Given the description of an element on the screen output the (x, y) to click on. 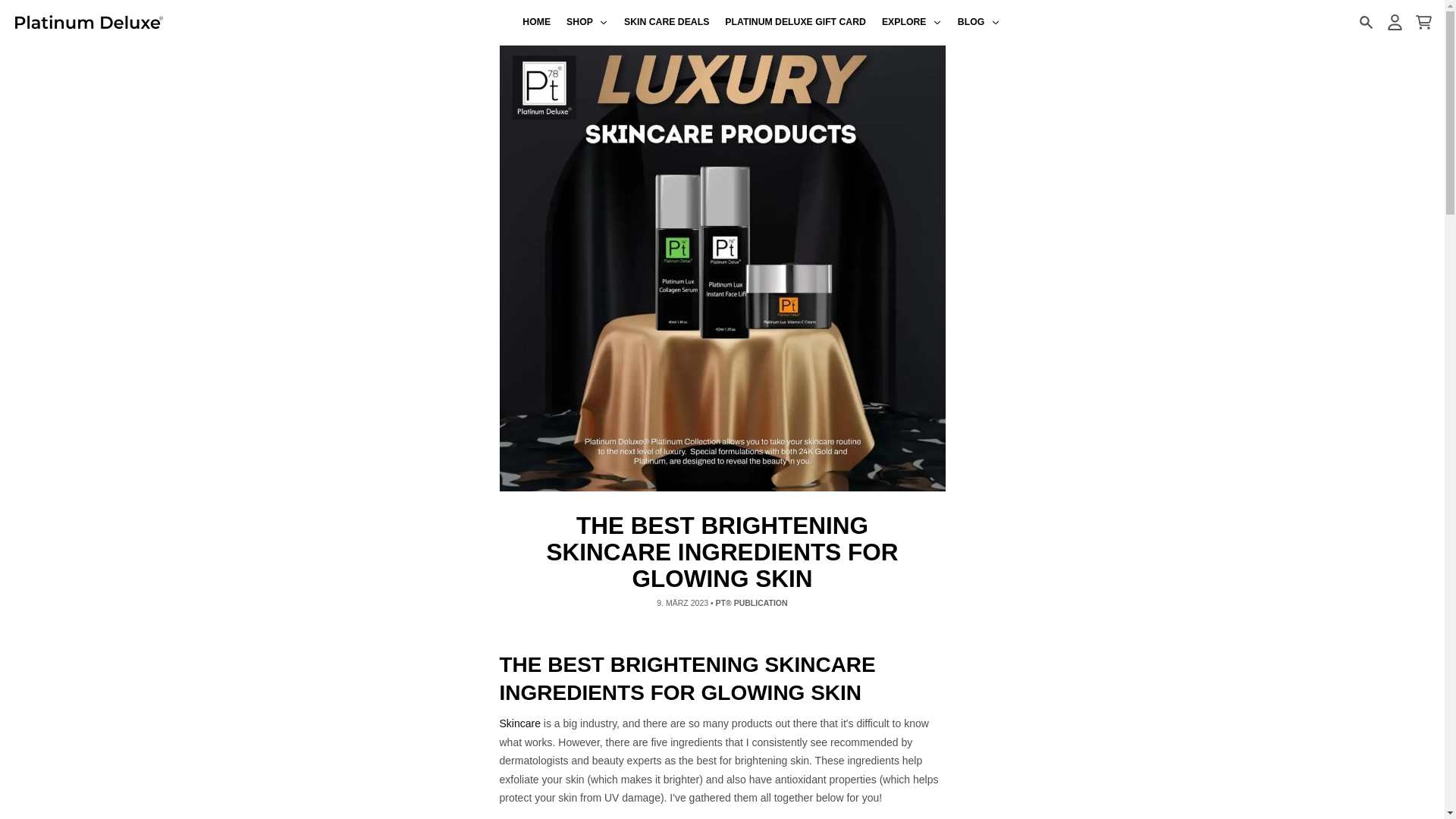
HOME (537, 22)
PLATINUM DELUXE GIFT CARD (796, 22)
Konto (1394, 22)
SKIN CARE DEALS (666, 22)
The Best Brightening Skincare Ingredients for Glowing Skin (519, 723)
Karren (1423, 22)
Suchen (1364, 22)
Direkt zum Inhalt (18, 7)
